Given the description of an element on the screen output the (x, y) to click on. 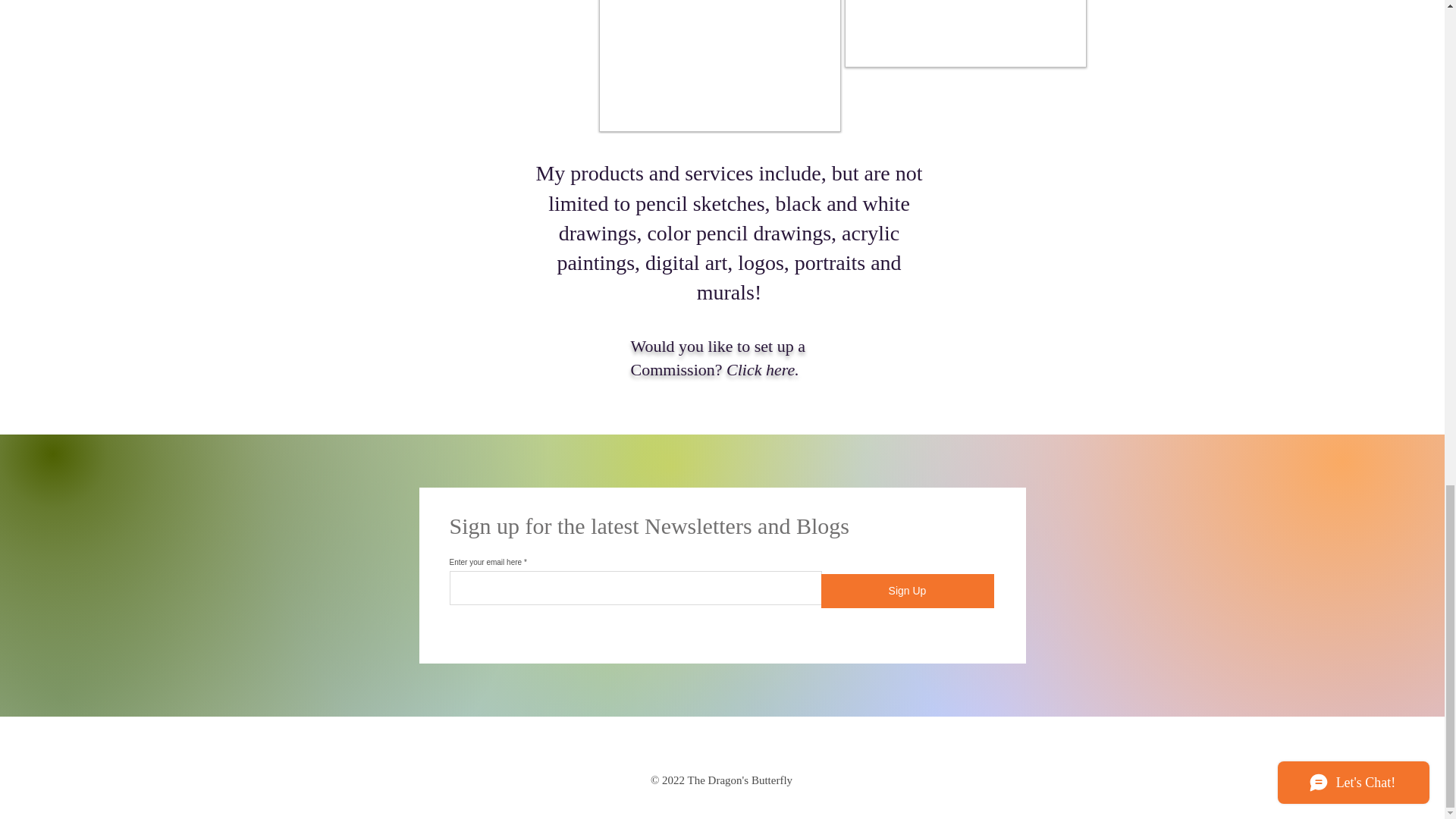
Would you like to set up a Commission? (717, 357)
Sign Up (906, 591)
Click here. (762, 369)
